Given the description of an element on the screen output the (x, y) to click on. 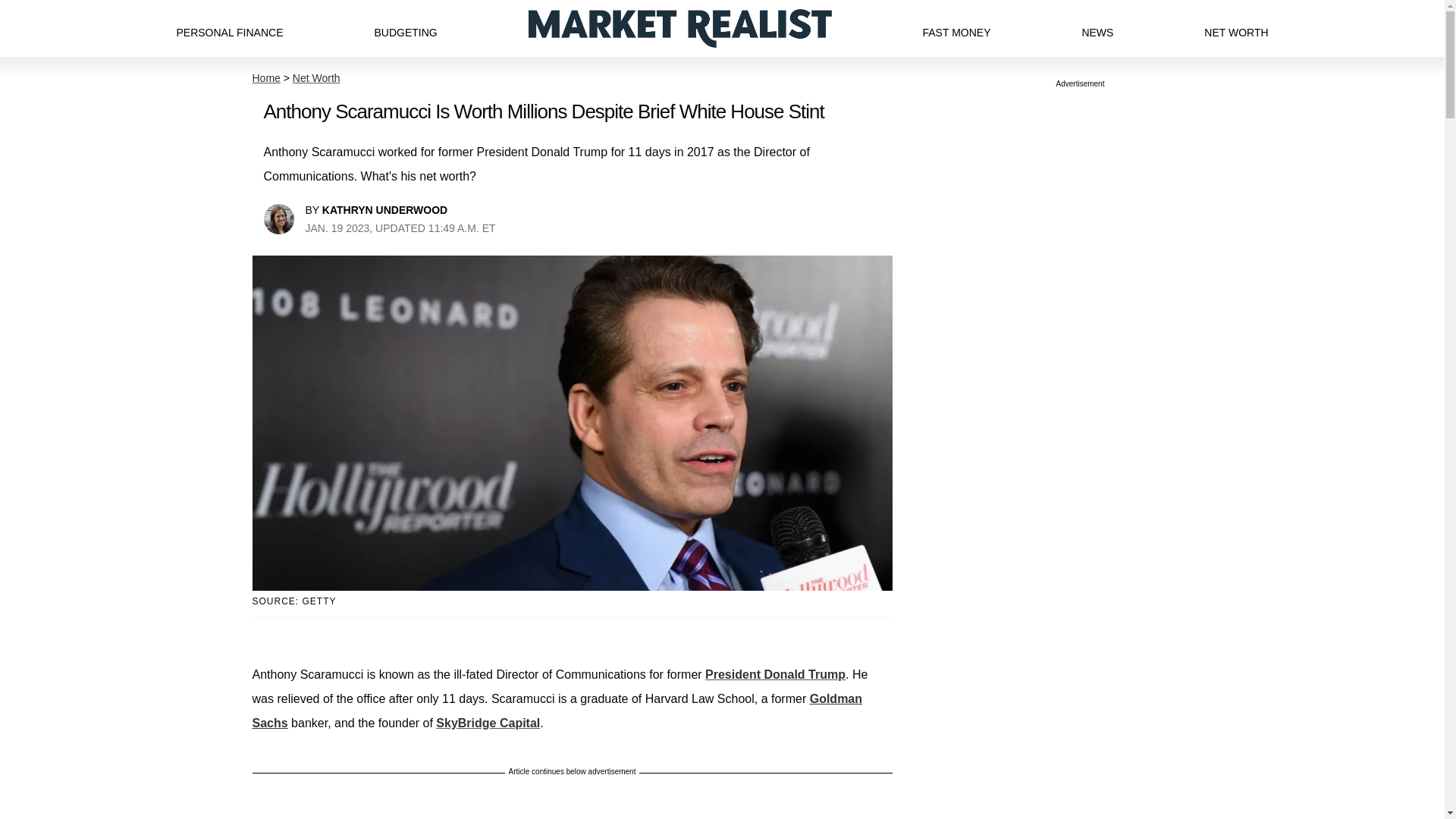
Goldman Sachs (556, 710)
President Donald Trump (774, 674)
BUDGETING (405, 27)
PERSONAL FINANCE (229, 27)
Net Worth (316, 78)
FAST MONEY (955, 27)
NET WORTH (1236, 27)
NEWS (1097, 27)
KATHRYN UNDERWOOD (383, 209)
SkyBridge Capital (487, 722)
Home (265, 78)
